Given the description of an element on the screen output the (x, y) to click on. 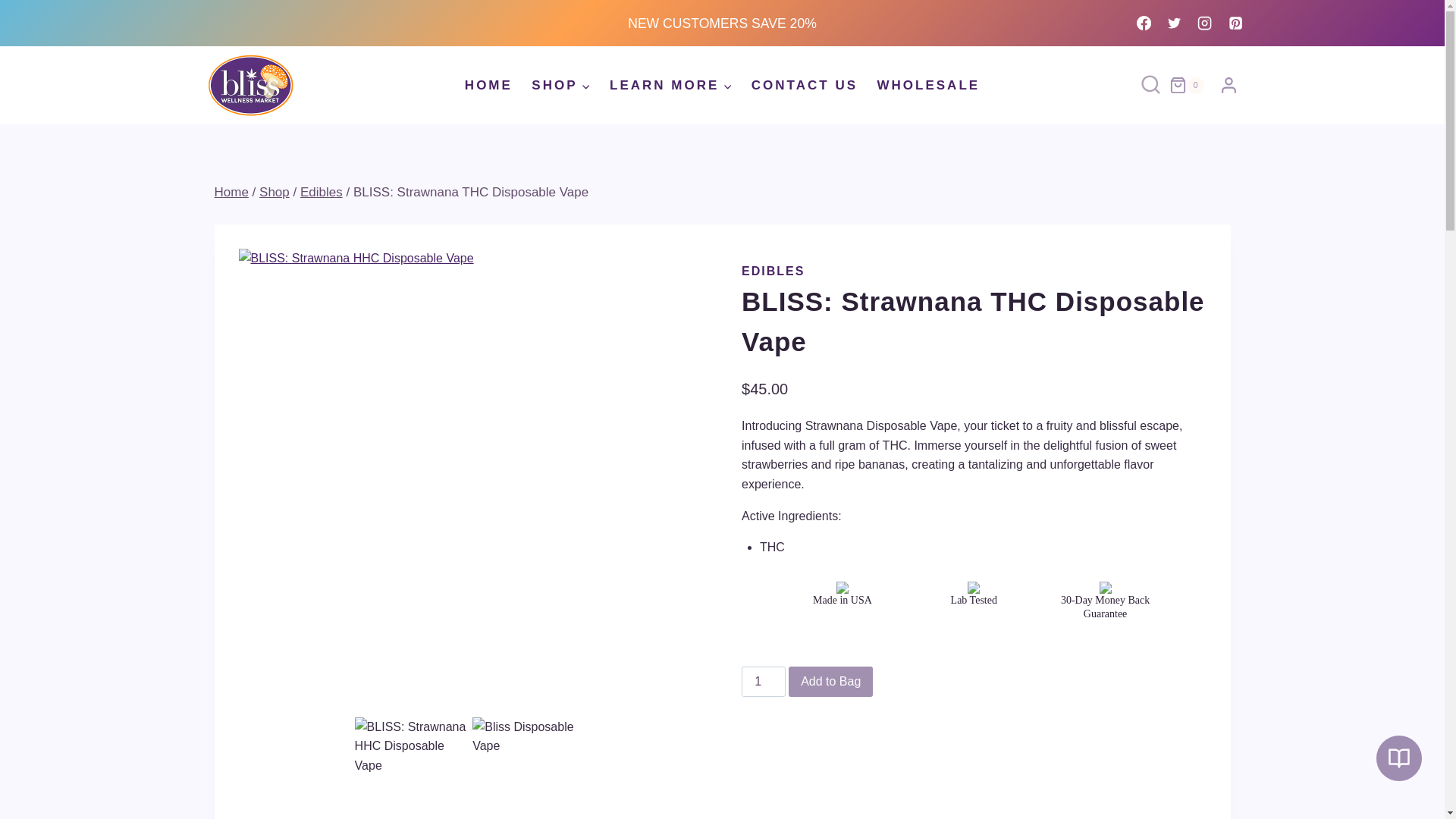
SHOP (560, 84)
1 (763, 681)
HOME (488, 84)
